Given the description of an element on the screen output the (x, y) to click on. 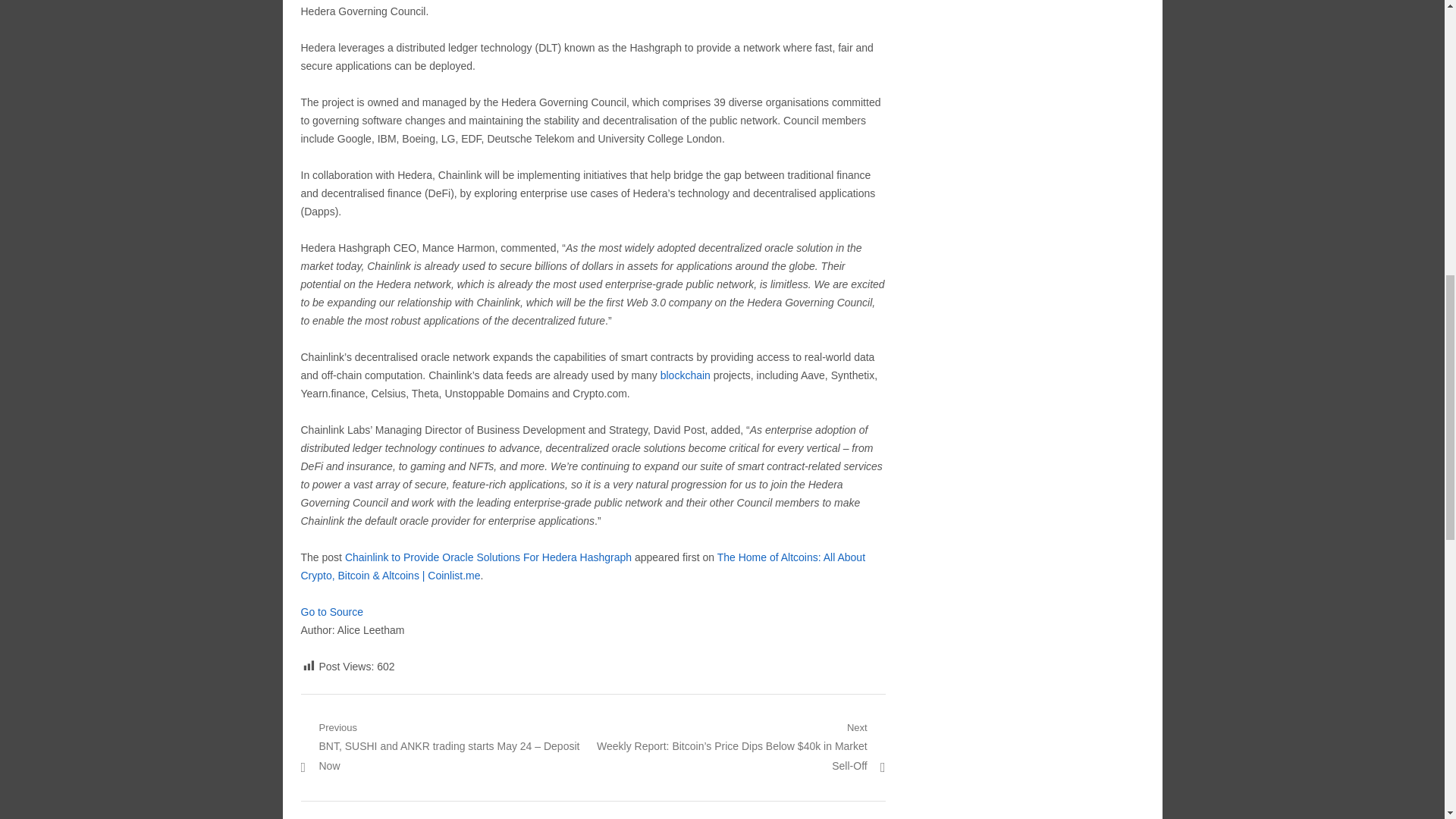
Go to Source (330, 612)
blockchain (685, 375)
Chainlink to Provide Oracle Solutions For Hedera Hashgraph (488, 557)
